Given the description of an element on the screen output the (x, y) to click on. 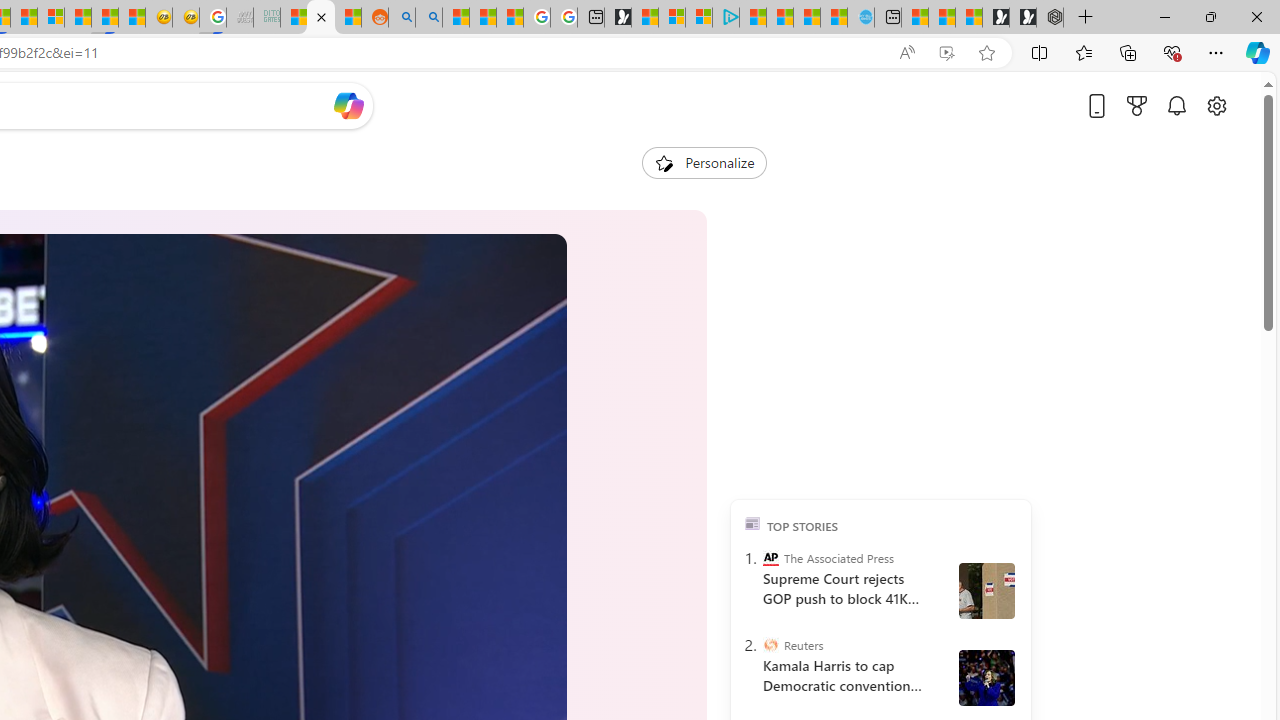
Reuters (770, 645)
 Harris and Walz campaign in Wisconsin (986, 678)
